Given the description of an element on the screen output the (x, y) to click on. 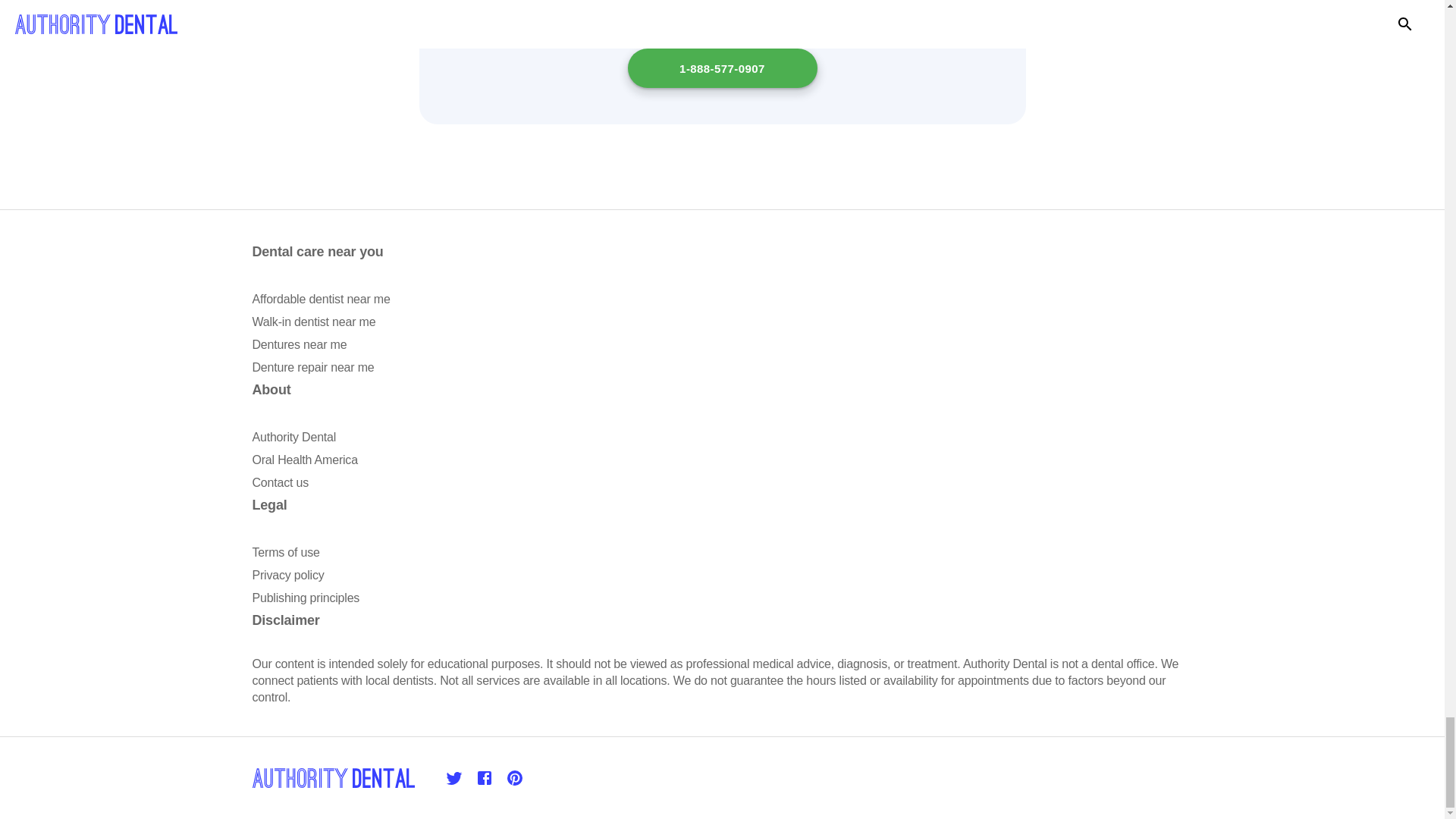
Publishing principles (305, 597)
Walk-in dentist near me (313, 321)
Authority Dental (293, 436)
Oral Health America (303, 459)
Privacy policy (287, 574)
Dentures near me (298, 344)
Affordable dentist near me (320, 298)
Terms of use (284, 552)
Contact us (279, 481)
1-888-577-0907 (721, 67)
